Given the description of an element on the screen output the (x, y) to click on. 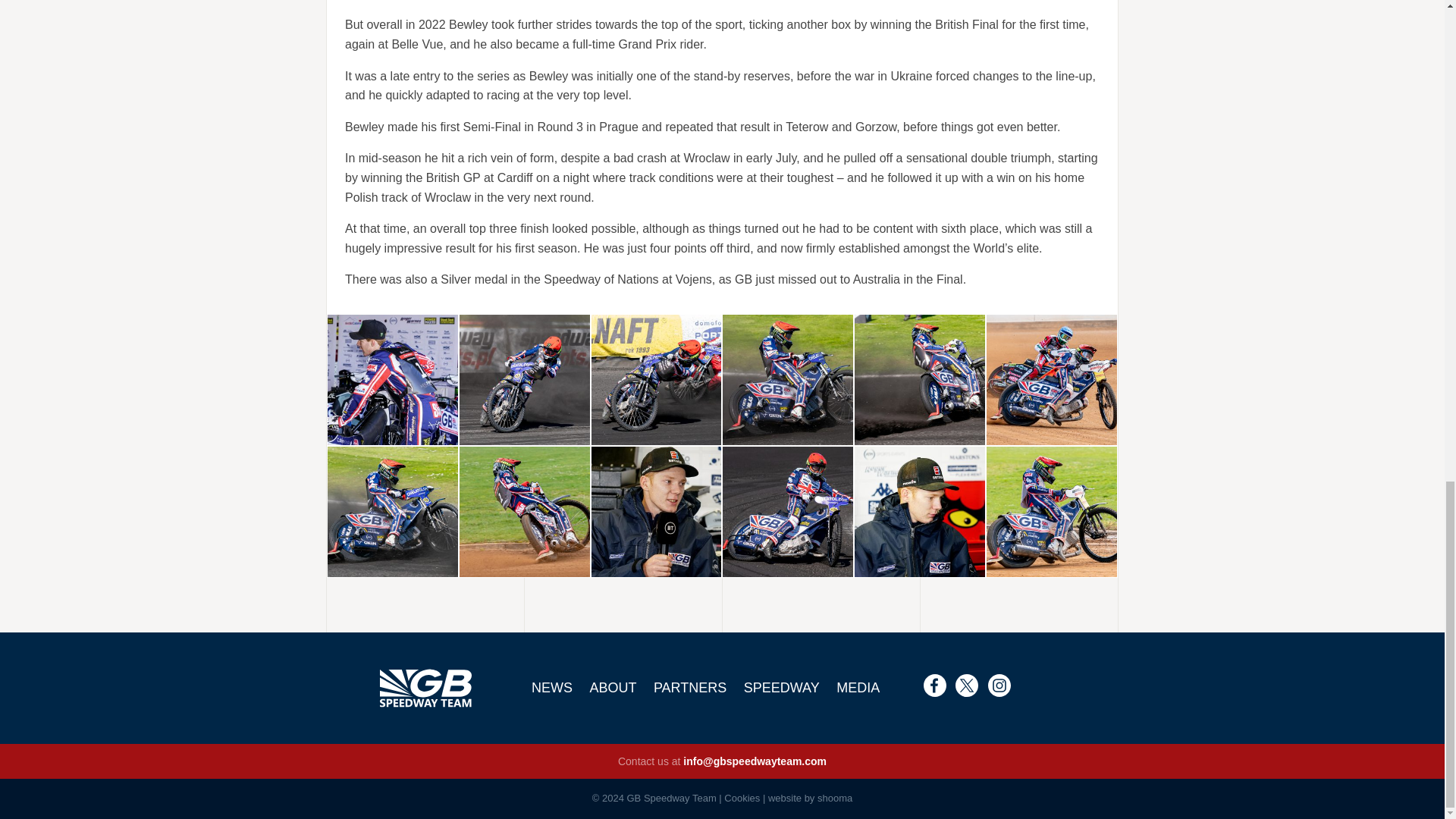
Find us on Facebook (934, 685)
00094 (524, 511)
117 (392, 511)
ABOUT (612, 687)
NEWS (551, 687)
141 (656, 379)
120 (787, 379)
00021 (1051, 511)
035 (656, 511)
Cookies (741, 797)
MEDIA (857, 687)
website by shooma (809, 797)
030 (787, 511)
PARTNERS (689, 687)
Photo 22 04 2023 13 56 19 (392, 379)
